Given the description of an element on the screen output the (x, y) to click on. 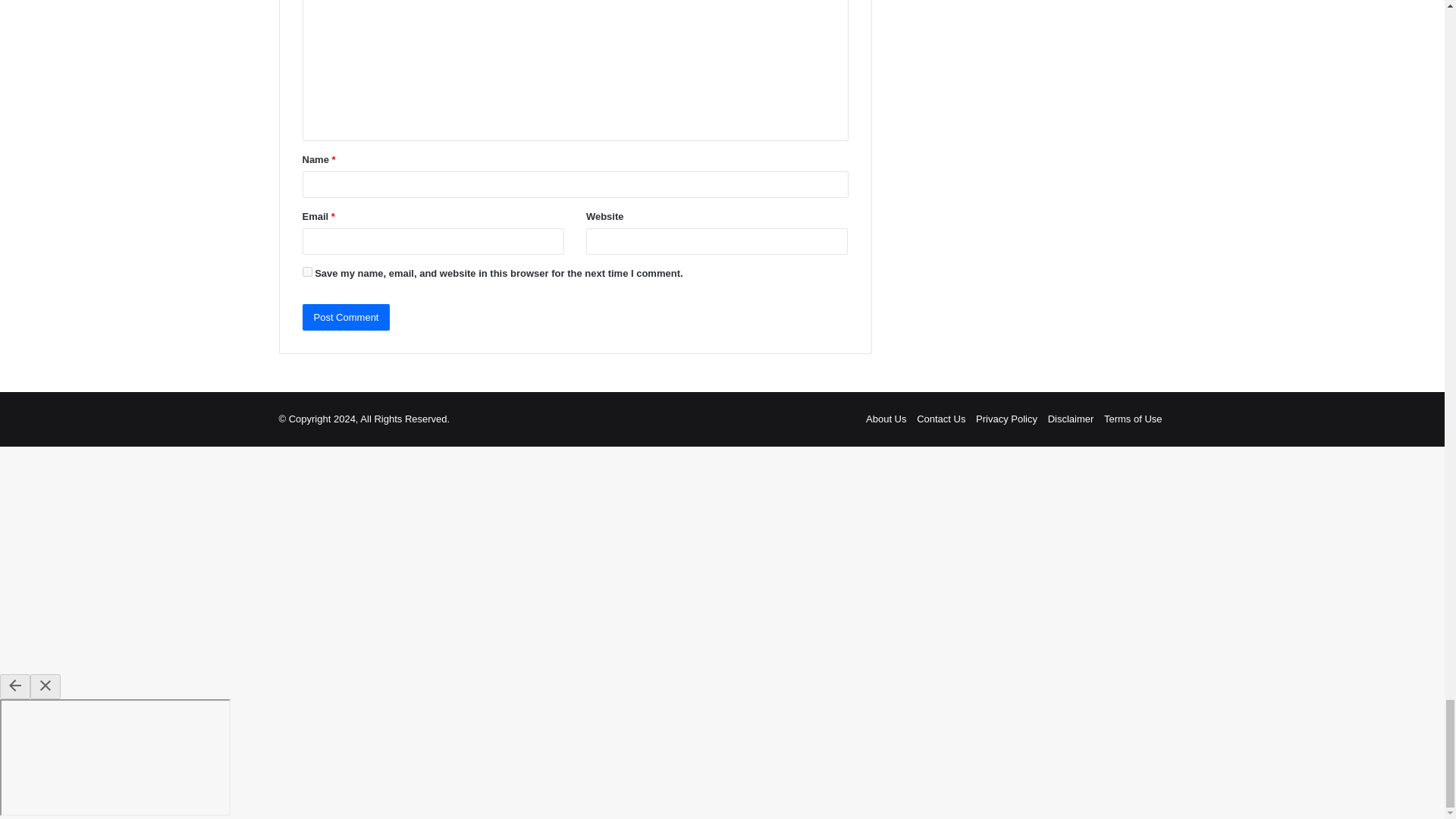
Post Comment (345, 316)
yes (306, 271)
